Given the description of an element on the screen output the (x, y) to click on. 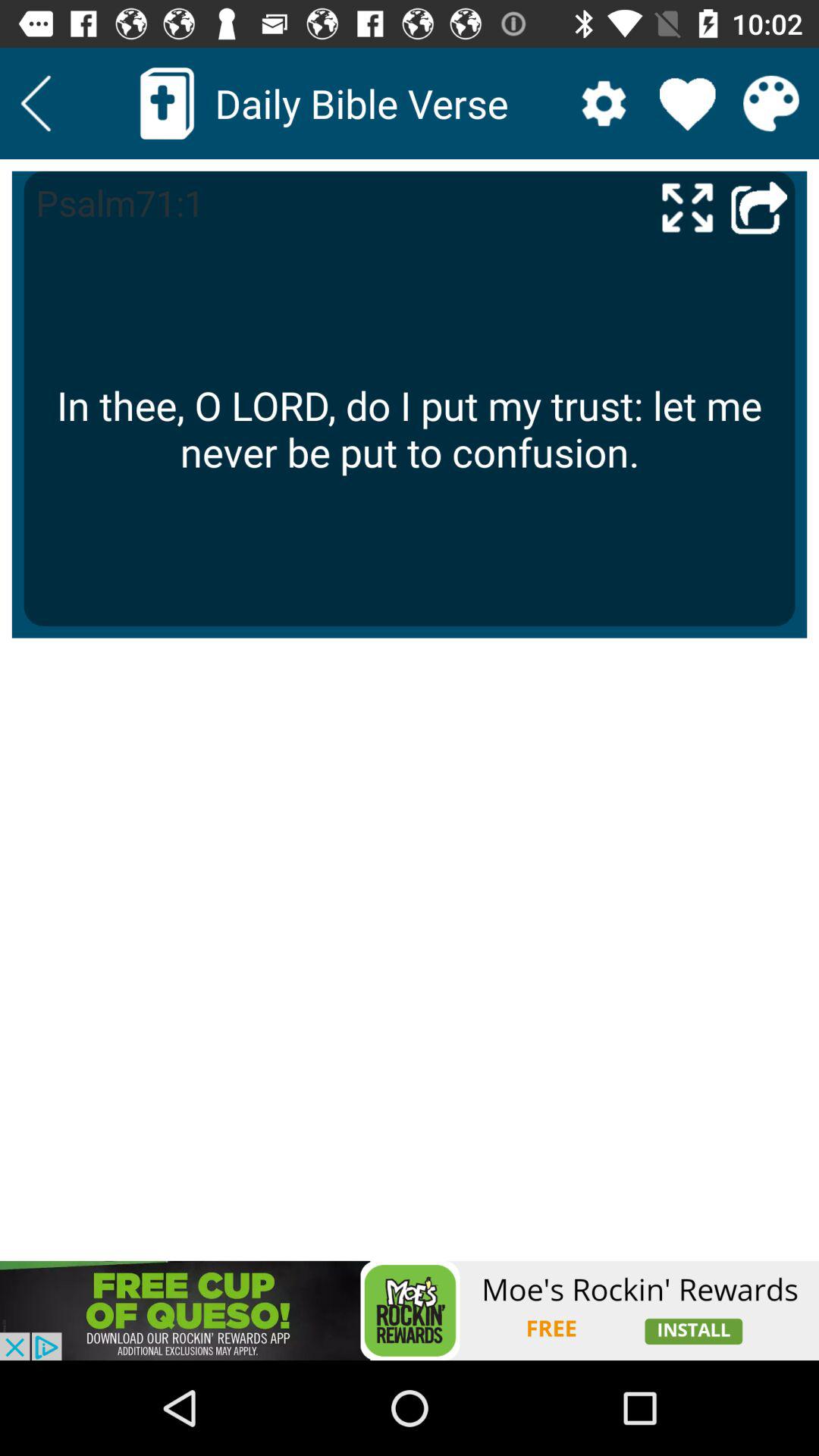
open settings (603, 103)
